Given the description of an element on the screen output the (x, y) to click on. 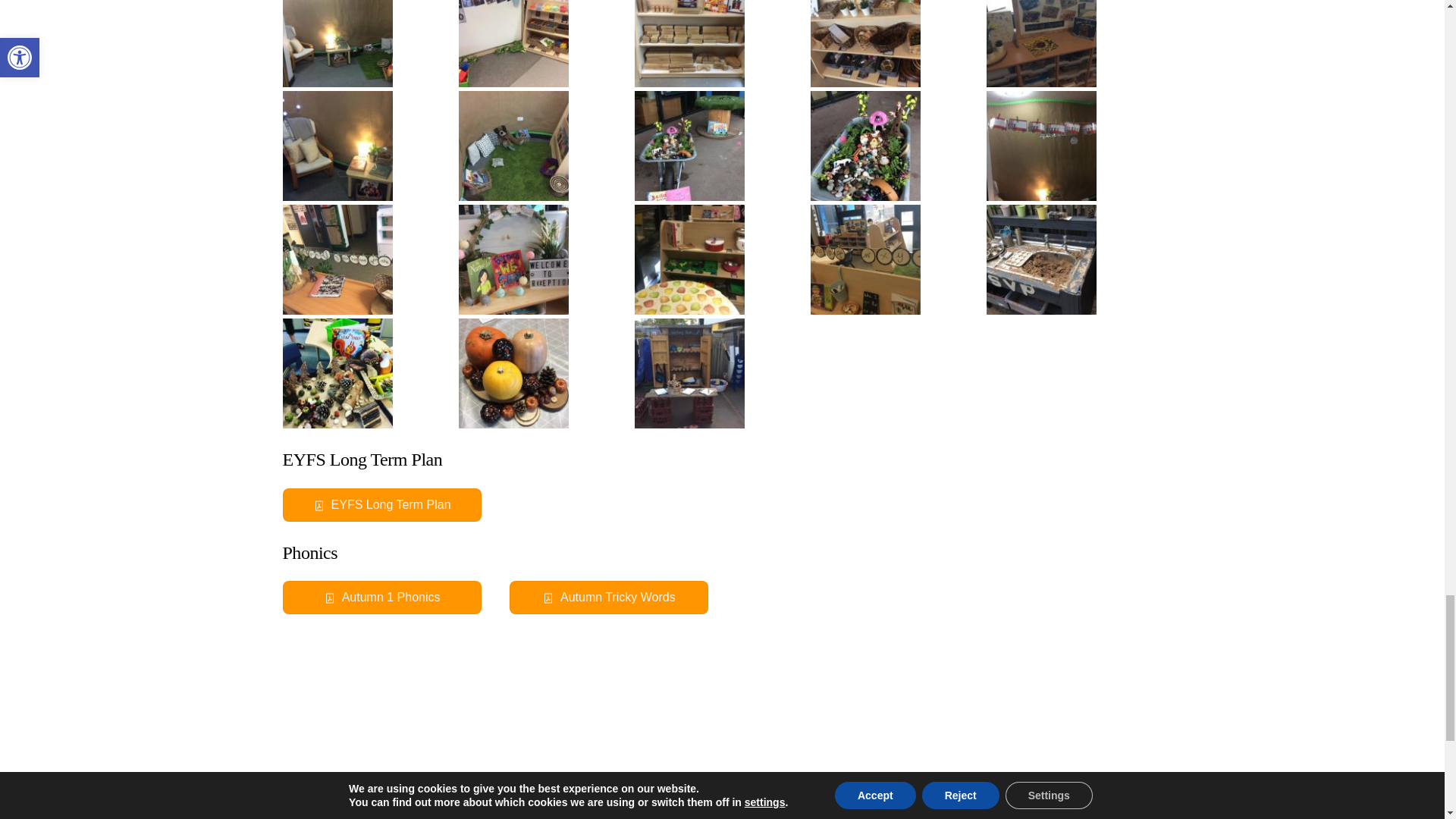
YouTube video player (722, 725)
